Given the description of an element on the screen output the (x, y) to click on. 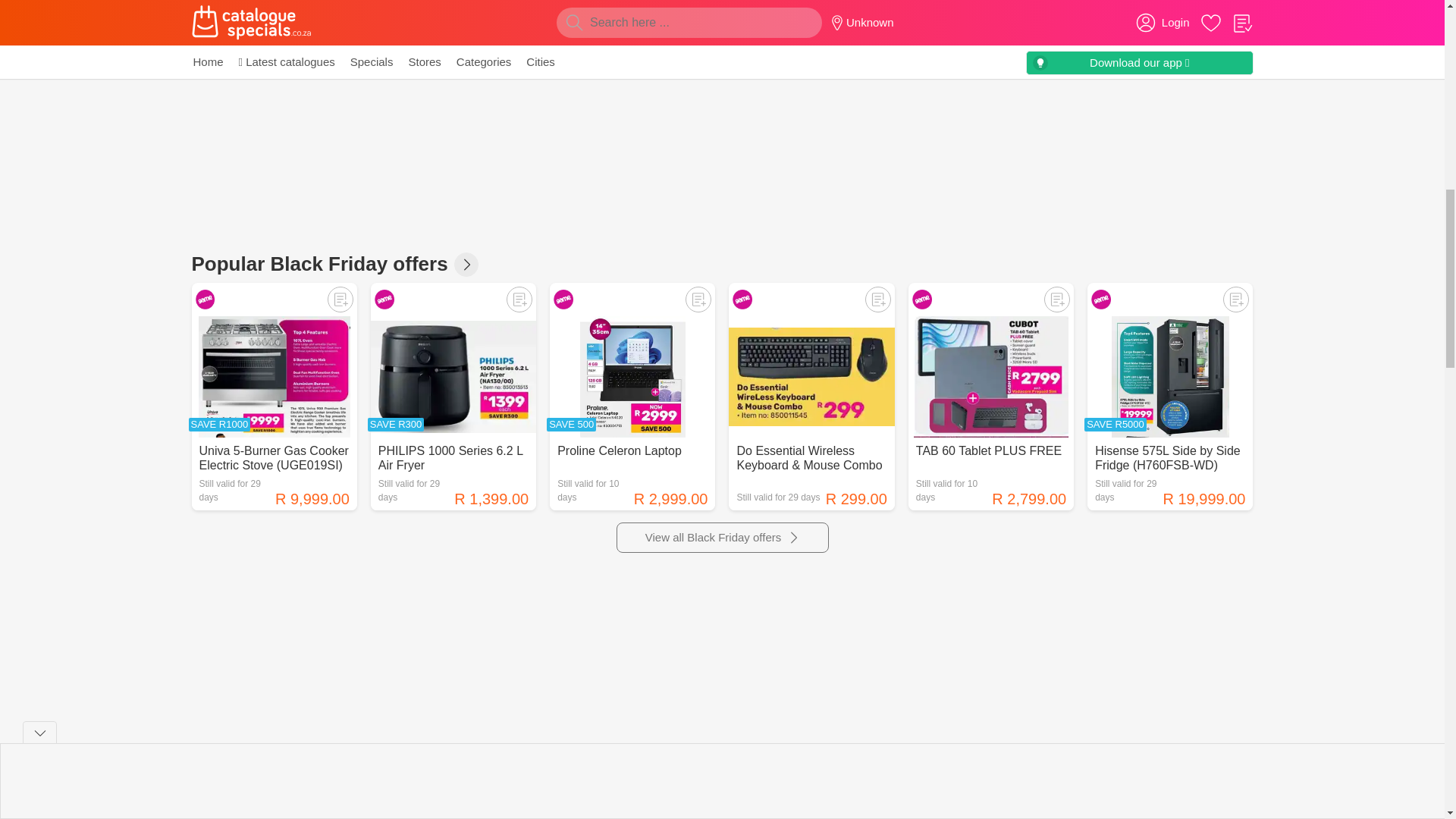
Popular Black Friday offers (466, 264)
Popular Black Friday offers (721, 537)
Popular Black Friday offers (506, 766)
